Given the description of an element on the screen output the (x, y) to click on. 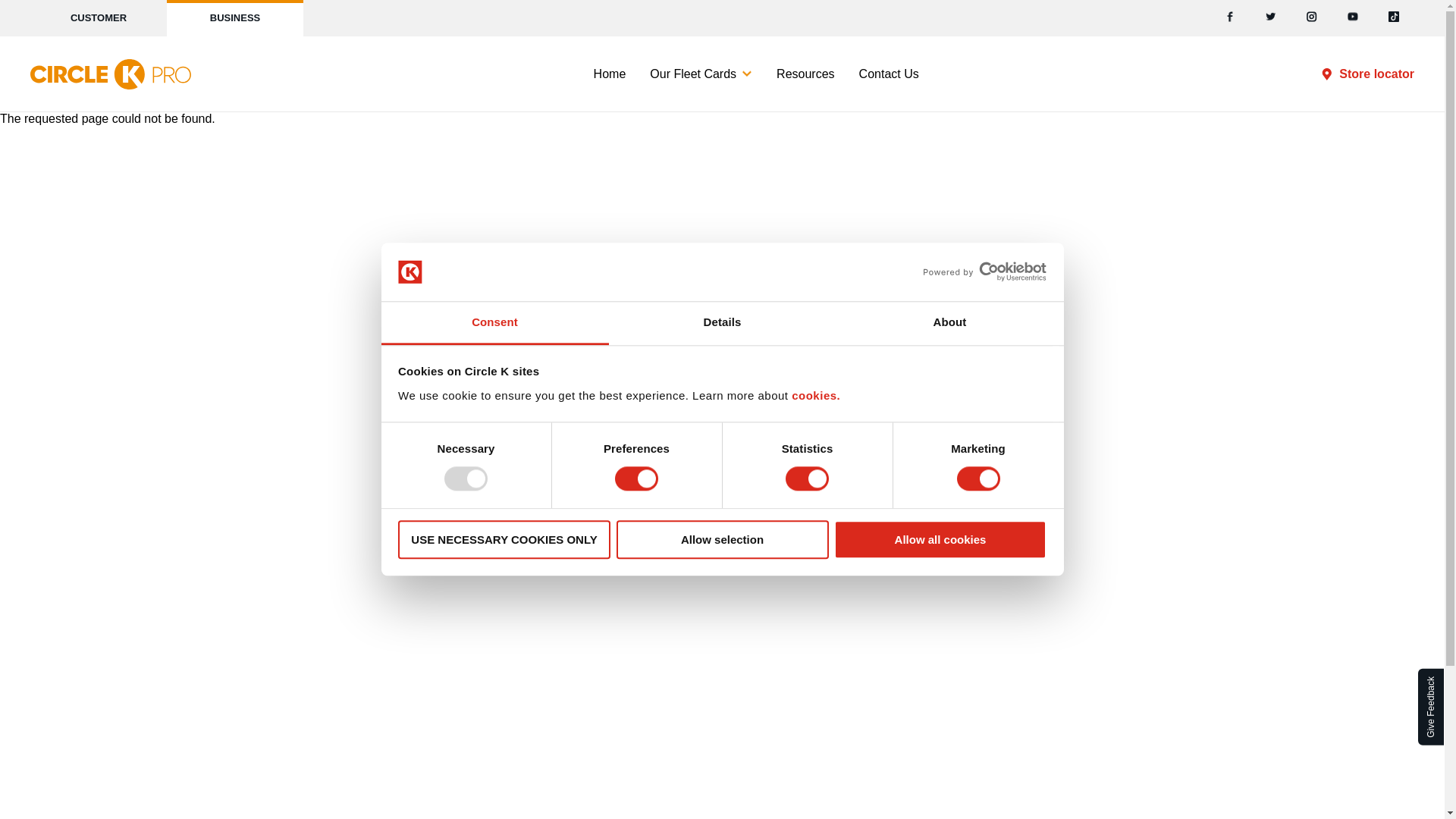
cookies. (816, 395)
Details (721, 323)
Consent (494, 323)
About (948, 323)
